Given the description of an element on the screen output the (x, y) to click on. 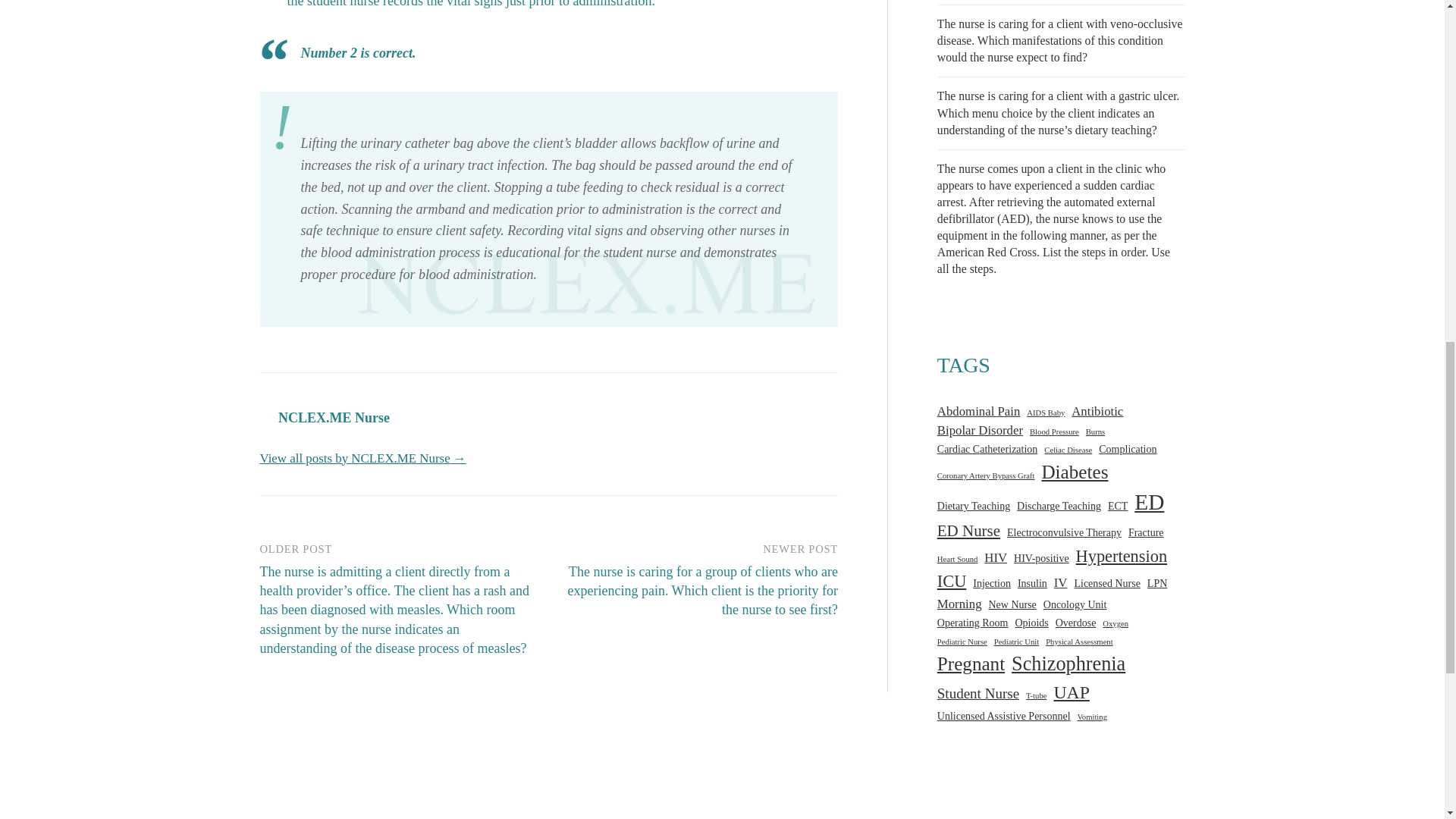
Abdominal Pain (978, 411)
